Given the description of an element on the screen output the (x, y) to click on. 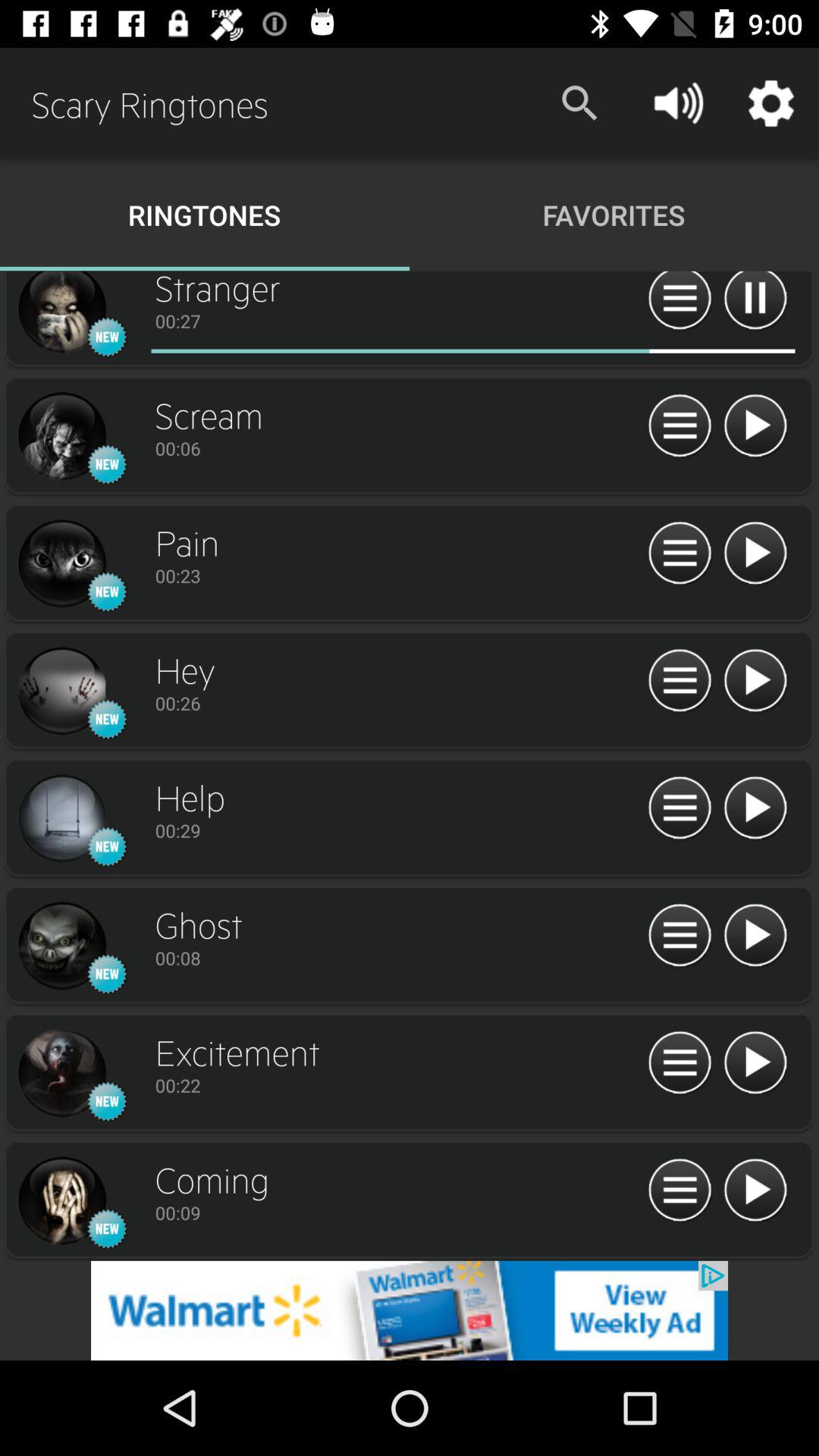
open more info on ringtone (679, 808)
